Given the description of an element on the screen output the (x, y) to click on. 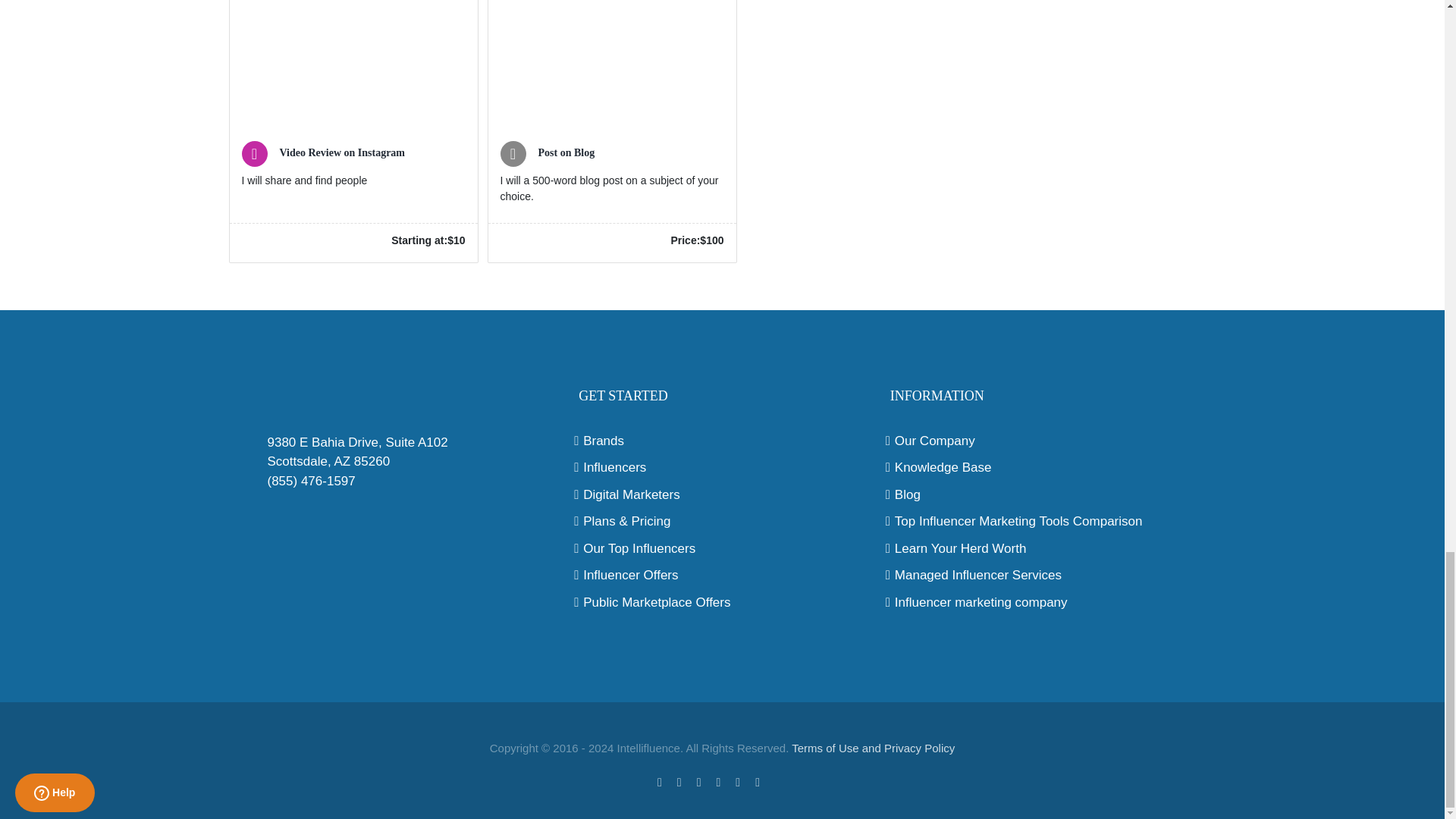
Knowledge Base (1034, 467)
TikTok (780, 779)
Digital Marketers (722, 495)
Influencers (722, 467)
Public Marketplace Offers (722, 602)
Influencer Offers (722, 575)
Our Top Influencers (722, 548)
Our Company (1034, 441)
Brands (722, 441)
